Given the description of an element on the screen output the (x, y) to click on. 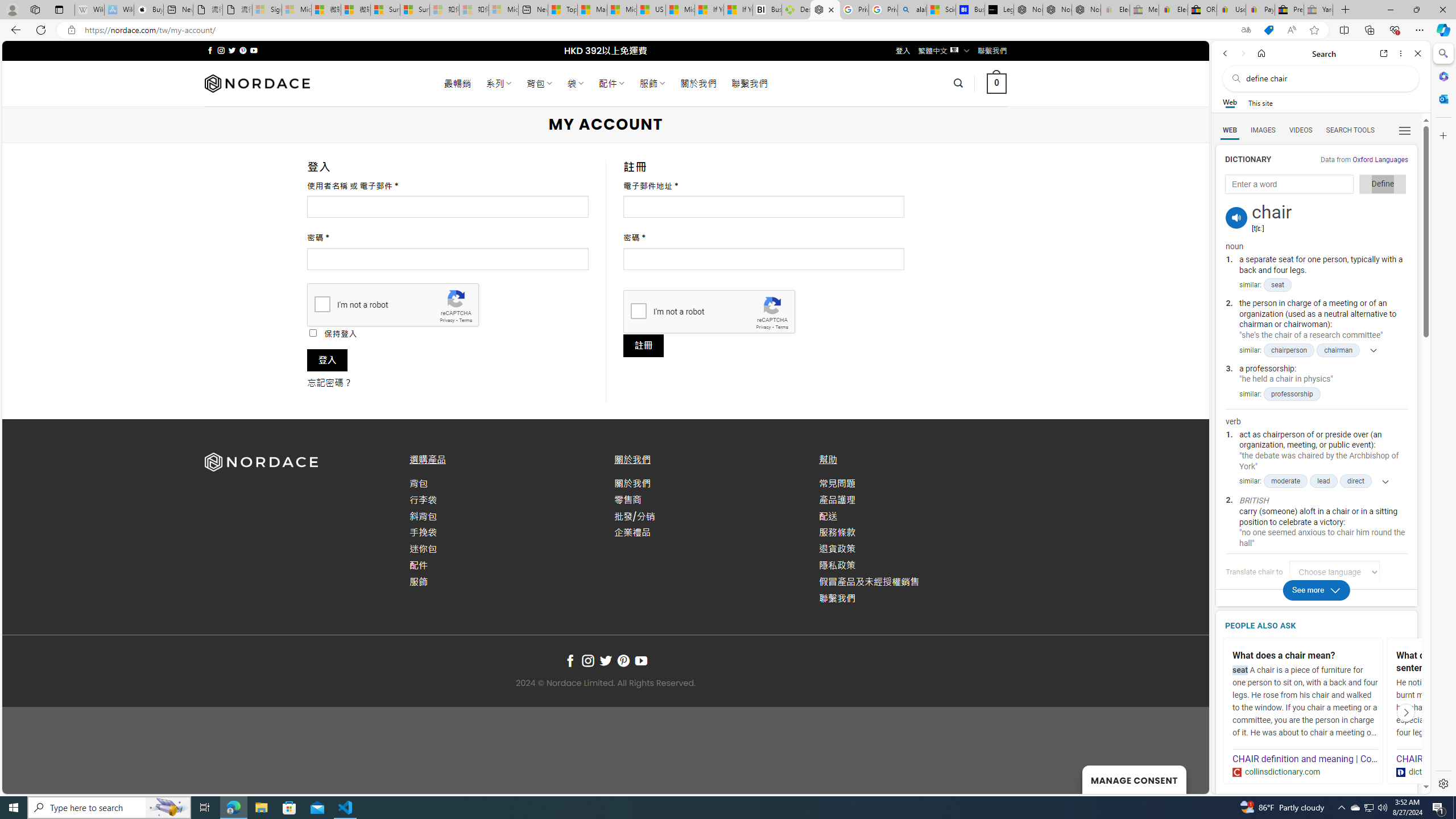
Show translate options (1245, 29)
Terms (781, 326)
Nordace - My Account (825, 9)
